Given the description of an element on the screen output the (x, y) to click on. 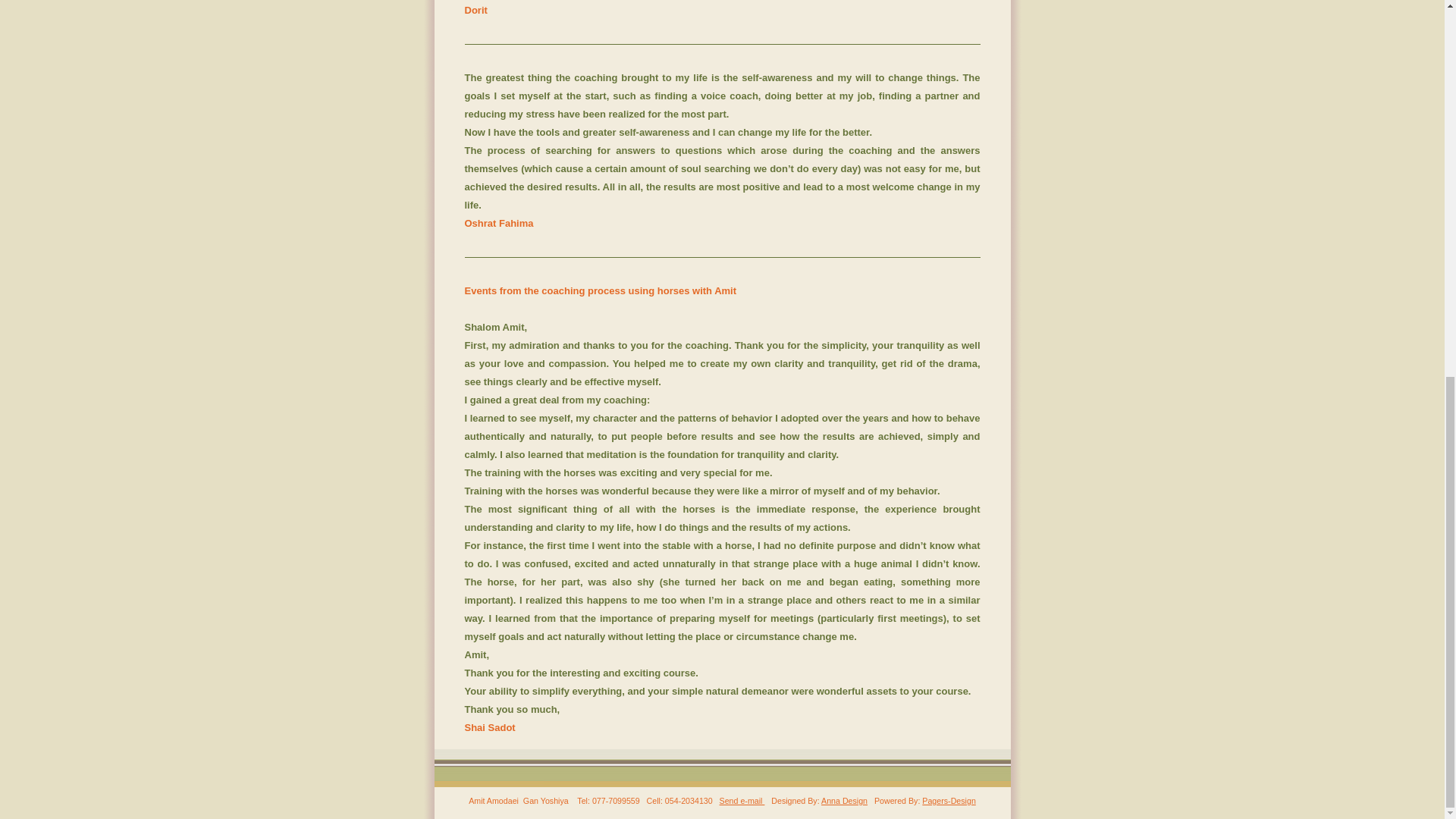
Send e-mail (742, 800)
Pagers-Design (948, 800)
Anna Design (844, 800)
